Given the description of an element on the screen output the (x, y) to click on. 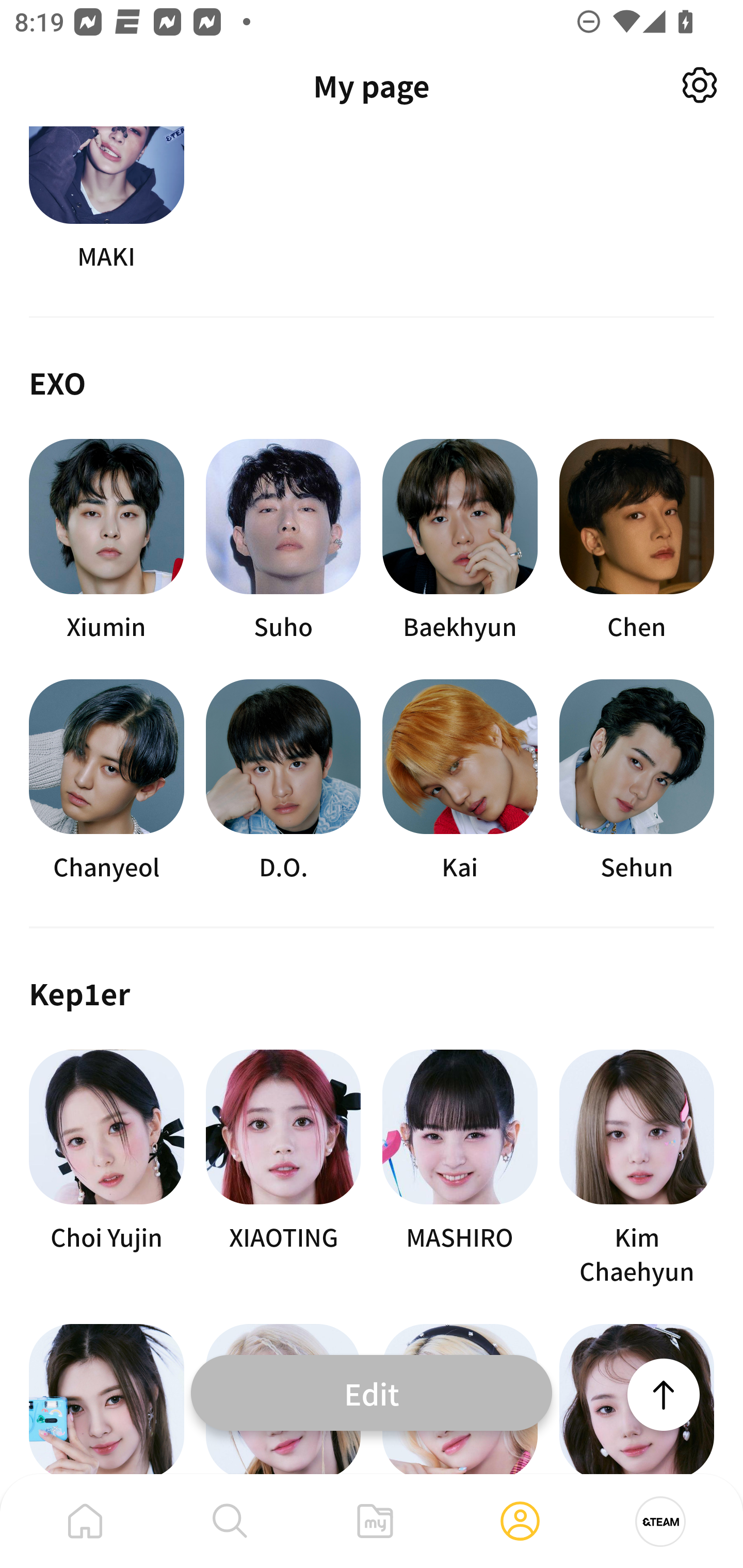
MAKI (106, 199)
Xiumin (106, 540)
Suho (282, 540)
Baekhyun (459, 540)
Chen (636, 540)
Chanyeol (106, 780)
D.O. (282, 780)
Kai (459, 780)
Sehun (636, 780)
Choi Yujin (106, 1167)
XIAOTING (282, 1167)
MASHIRO (459, 1167)
Kim Chaehyun (636, 1167)
Edit (371, 1392)
